Given the description of an element on the screen output the (x, y) to click on. 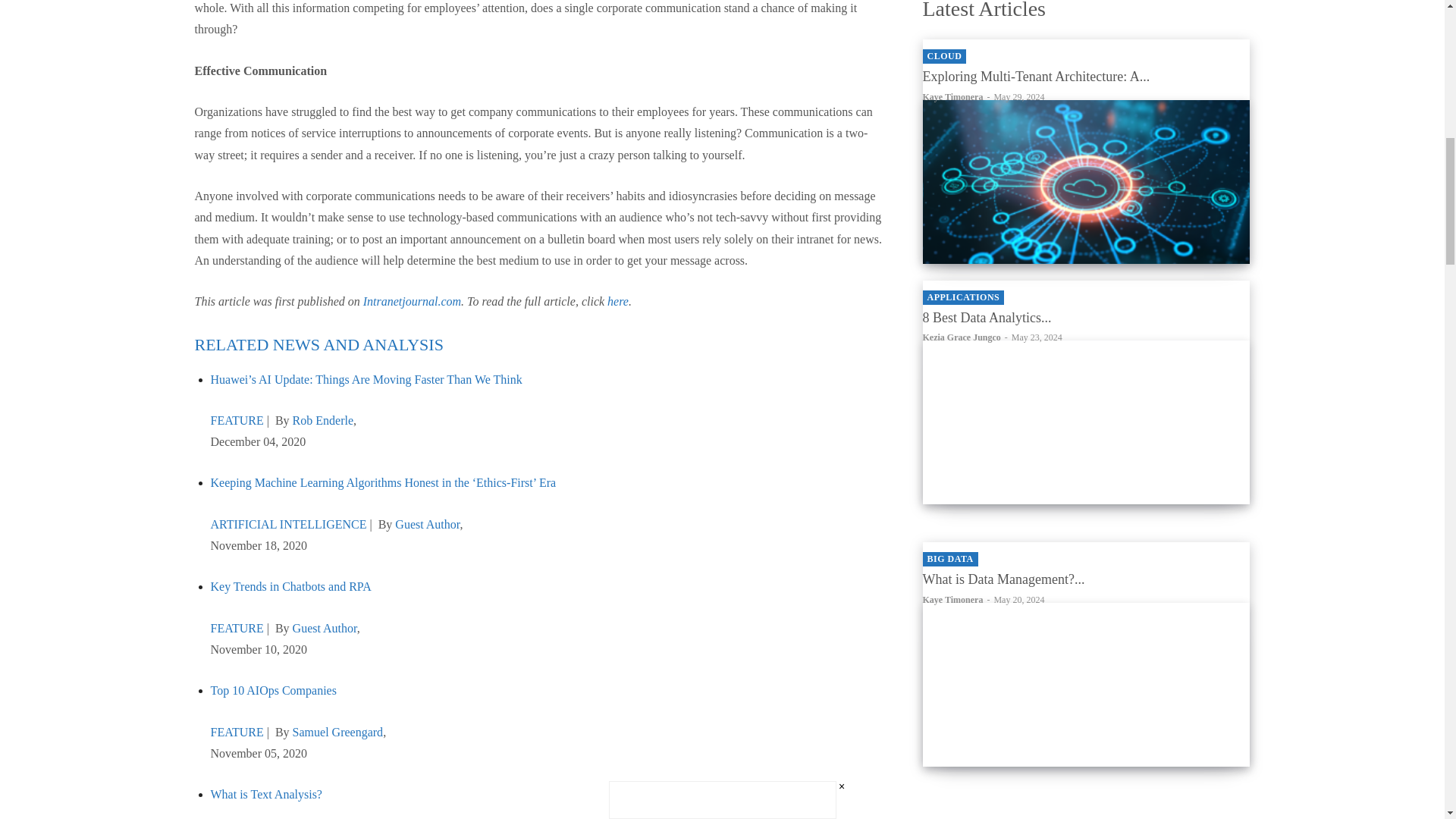
Intranetjournal.com (411, 300)
here (617, 300)
